Given the description of an element on the screen output the (x, y) to click on. 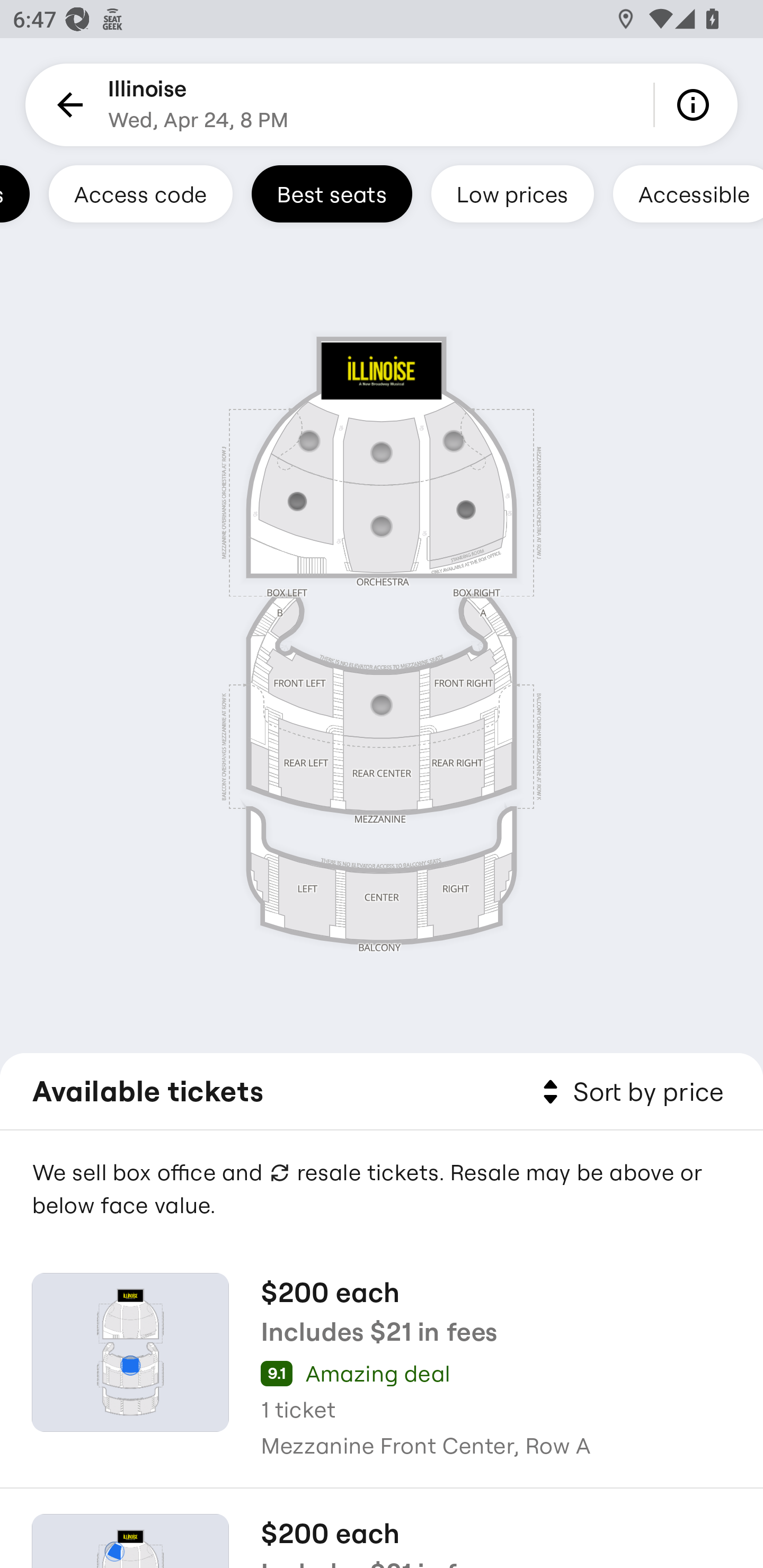
Back (66, 104)
Illinoise Wed, Apr 24, 8 PM (198, 104)
Info (695, 104)
Access code (140, 193)
Best seats (331, 193)
Low prices (512, 193)
Accessible (687, 193)
Sort by price (629, 1091)
